Given the description of an element on the screen output the (x, y) to click on. 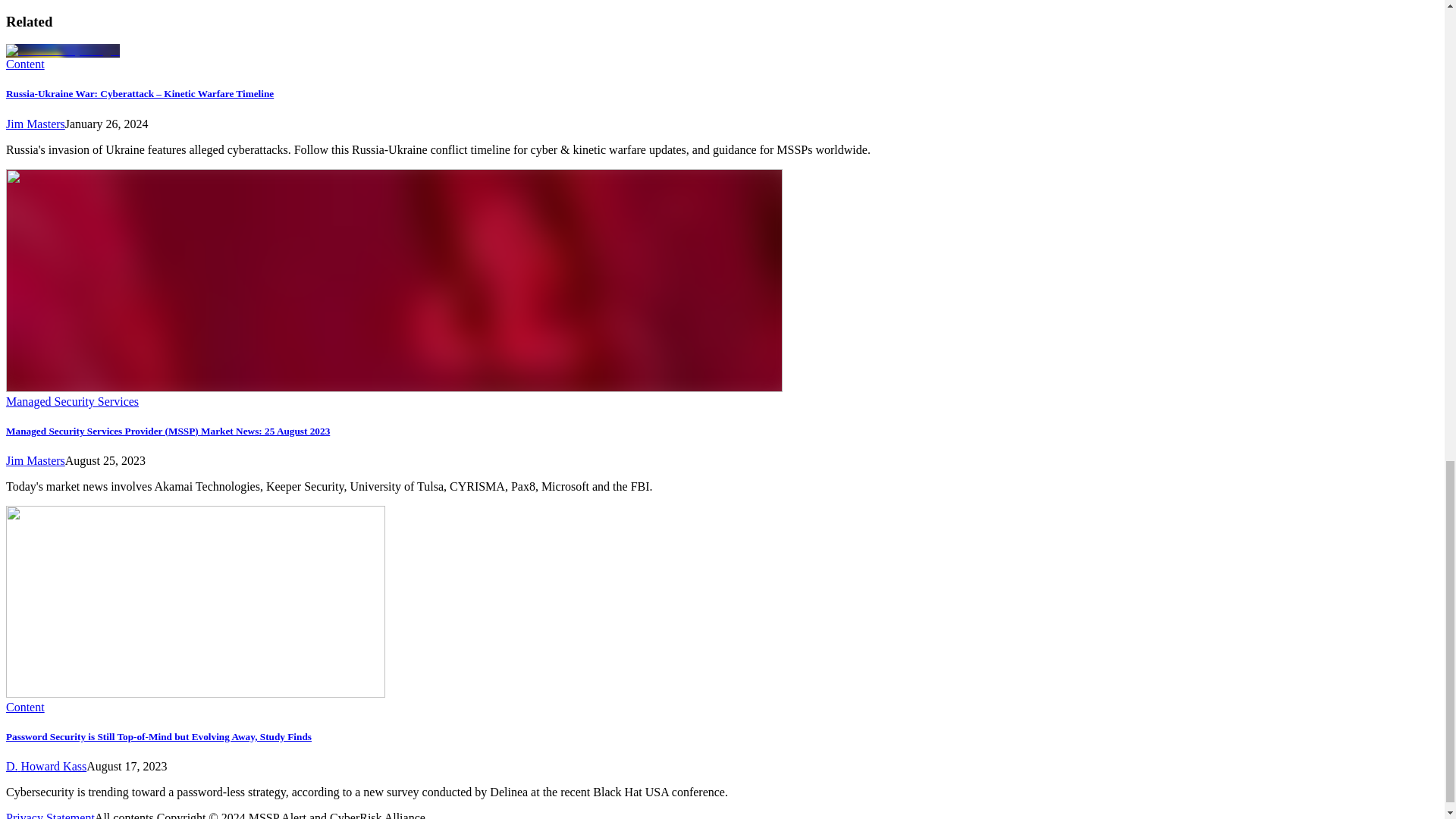
Managed Security Services (71, 400)
D. Howard Kass (45, 766)
Jim Masters (35, 460)
Content (25, 63)
Content (25, 707)
Jim Masters (35, 123)
